Given the description of an element on the screen output the (x, y) to click on. 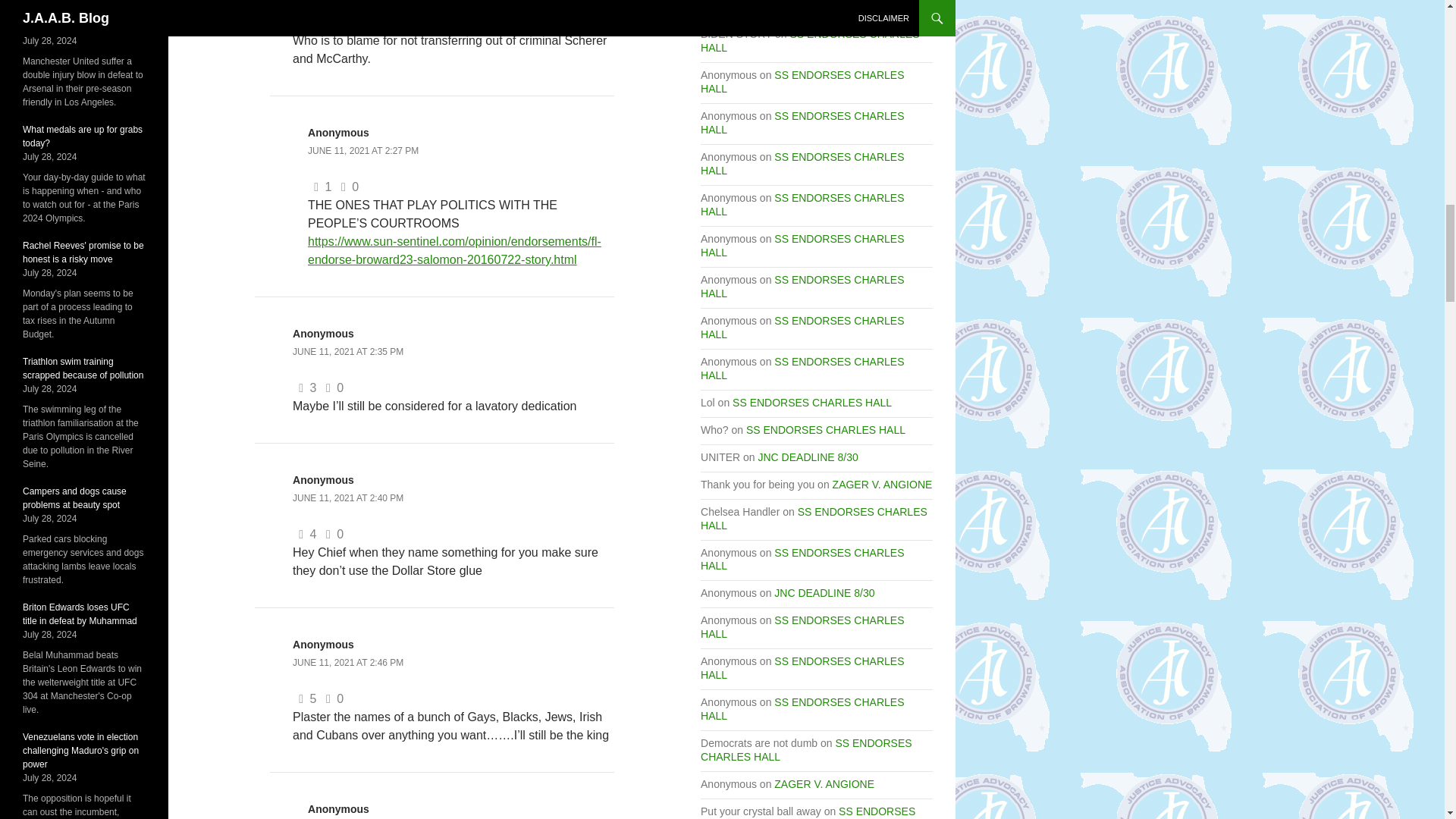
JUNE 11, 2021 AT 2:46 PM (347, 662)
JUNE 11, 2021 AT 2:40 PM (347, 498)
JUNE 11, 2021 AT 2:35 PM (347, 351)
JUNE 11, 2021 AT 2:27 PM (363, 150)
